Given the description of an element on the screen output the (x, y) to click on. 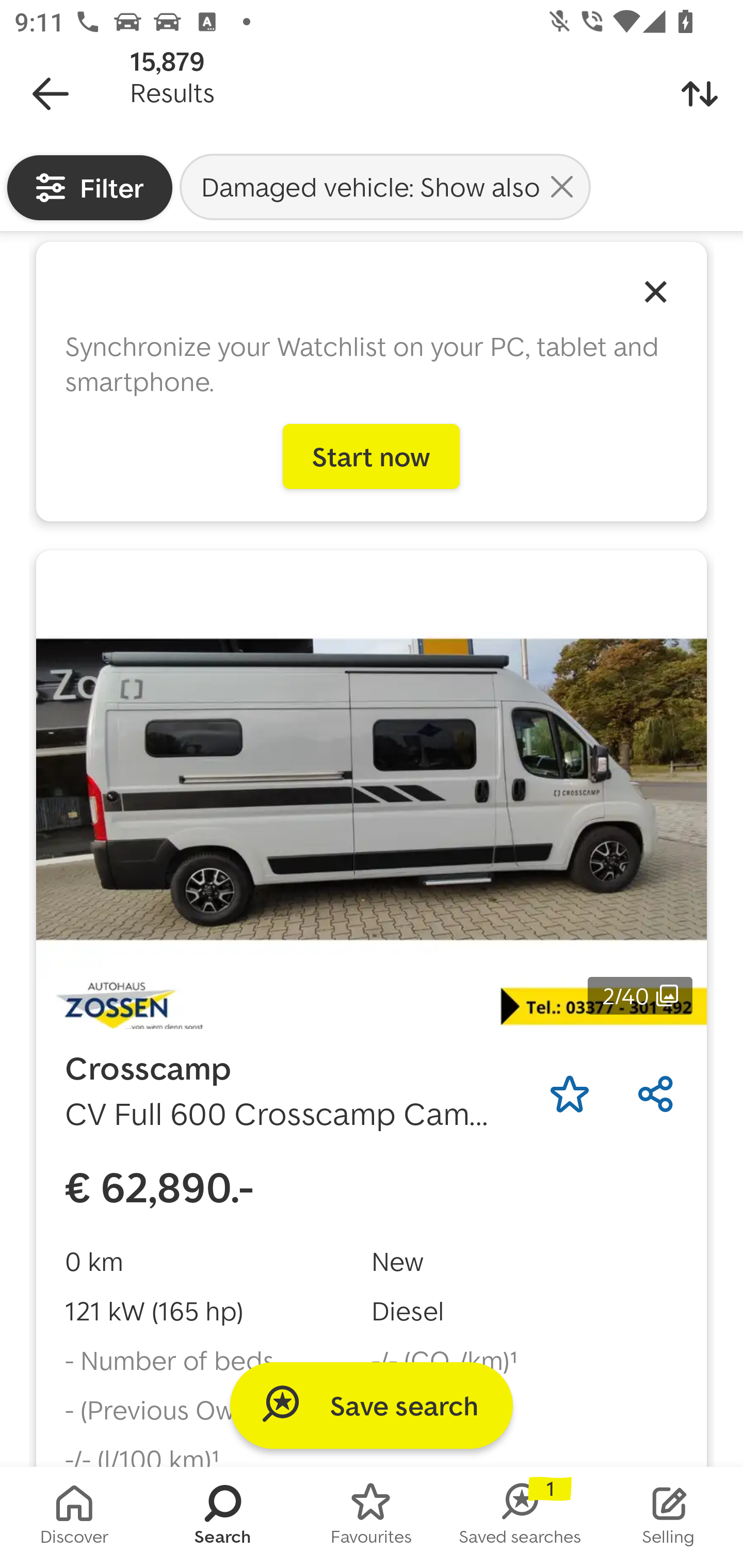
Navigate up (50, 93)
Sort (699, 93)
Filter (89, 187)
Damaged vehicle: Show also (385, 186)
Start now (371, 456)
Save search (371, 1405)
HOMESCREEN Discover (74, 1517)
SEARCH Search (222, 1517)
FAVORITES Favourites (371, 1517)
SAVED_SEARCHES Saved searches 1 (519, 1517)
STOCK_LIST Selling (668, 1517)
